Given the description of an element on the screen output the (x, y) to click on. 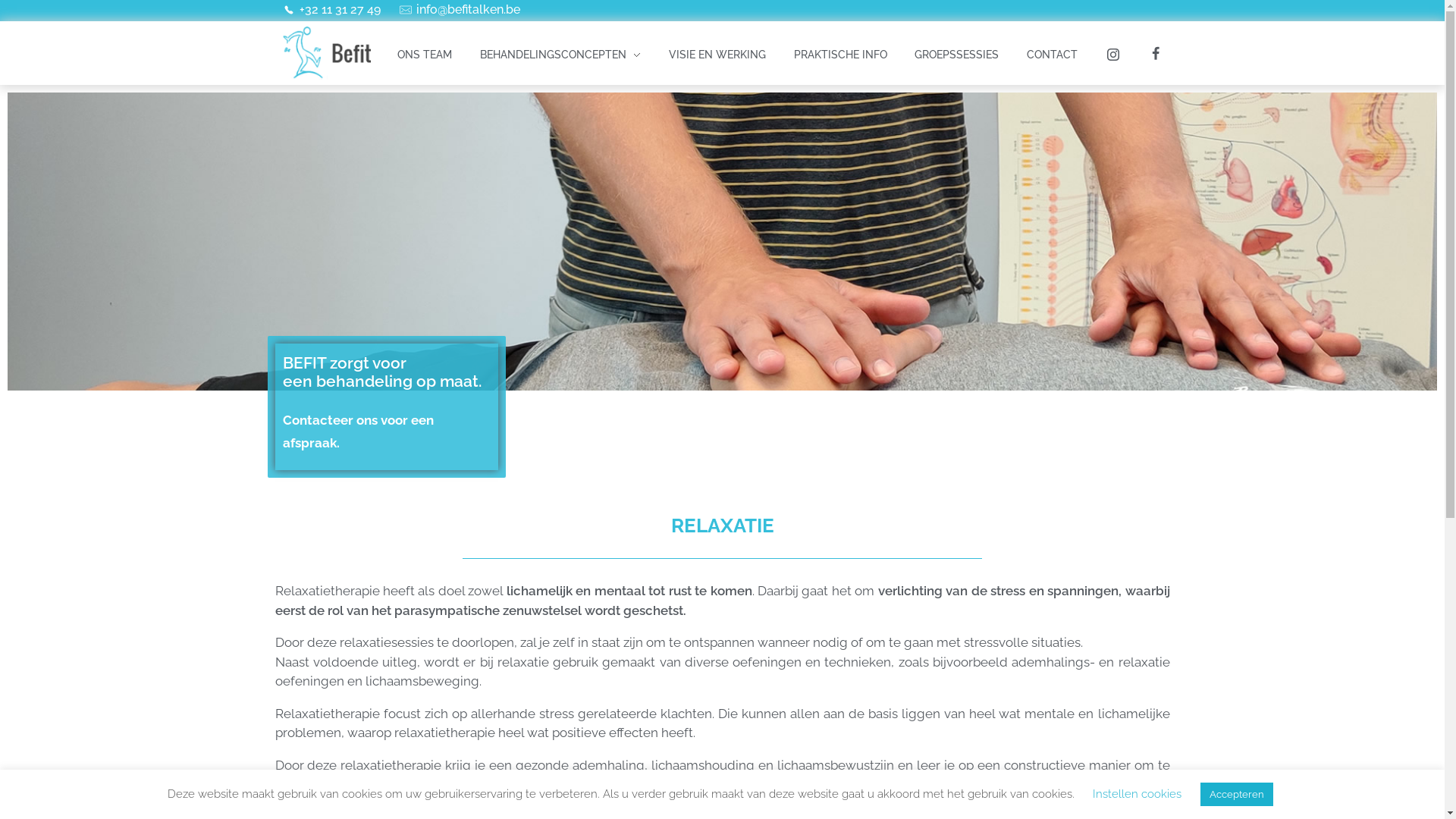
+32 11 31 27 49 Element type: text (334, 16)
Befit Alken Element type: hover (326, 52)
Accepteren Element type: text (1236, 794)
Contacteer ons voor een afspraak. Element type: text (385, 431)
Instellen cookies Element type: text (1136, 793)
PRAKTISCHE INFO Element type: text (839, 54)
CONTACT Element type: text (1052, 54)
info@befitalken.be Element type: text (462, 16)
BEHANDELINGSCONCEPTEN Element type: text (559, 54)
Befit Alken relaxatie4 Element type: hover (722, 241)
BEFIT zorgt voor
een behandeling op maat. Element type: text (385, 372)
GROEPSSESSIES Element type: text (956, 54)
Befit Alken Element type: text (326, 88)
ONS TEAM Element type: text (431, 54)
VISIE EN WERKING Element type: text (716, 54)
